Given the description of an element on the screen output the (x, y) to click on. 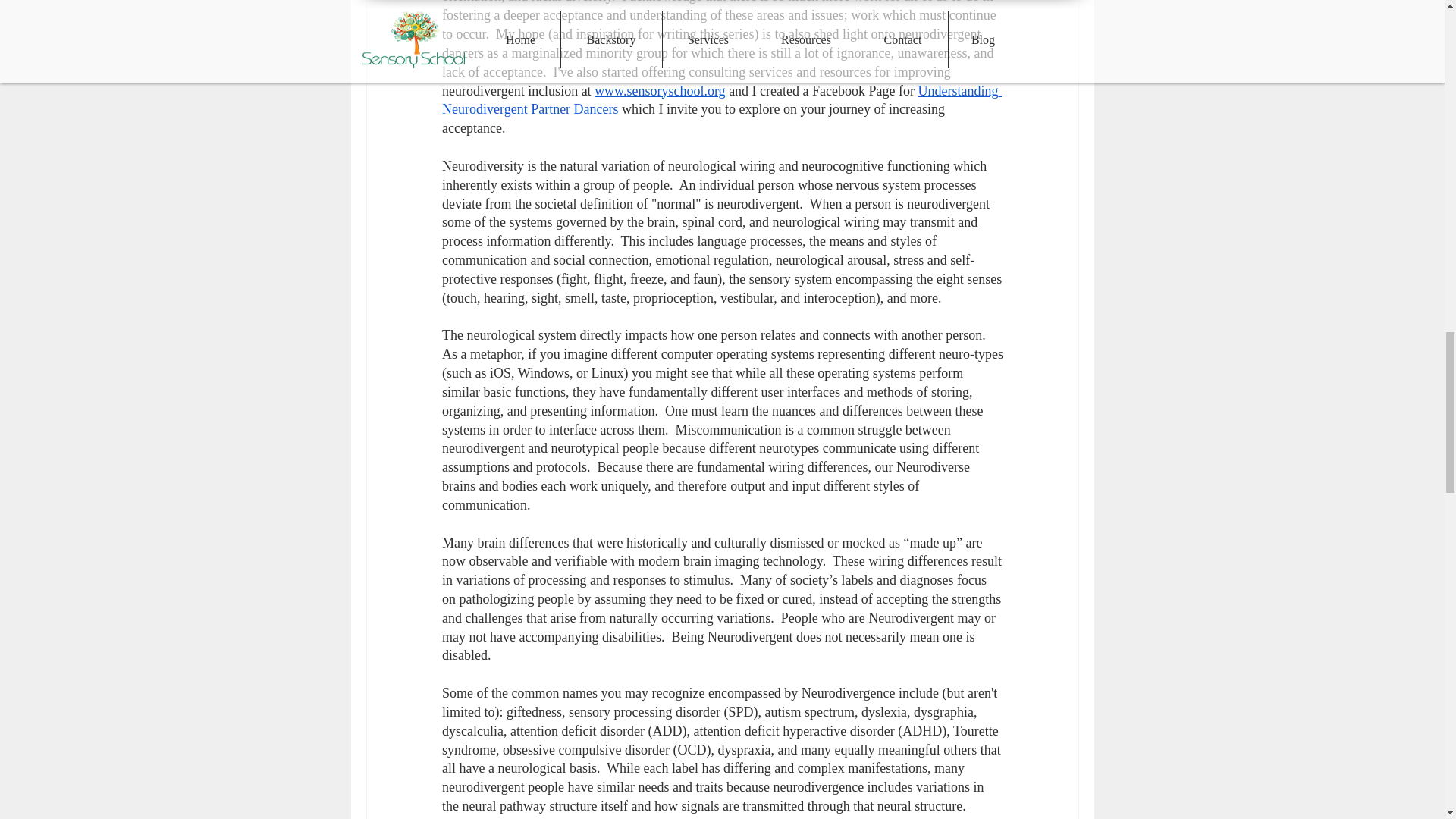
Understanding Neurodivergent Partner Dancers (721, 100)
www.sensoryschool.org (659, 90)
